Given the description of an element on the screen output the (x, y) to click on. 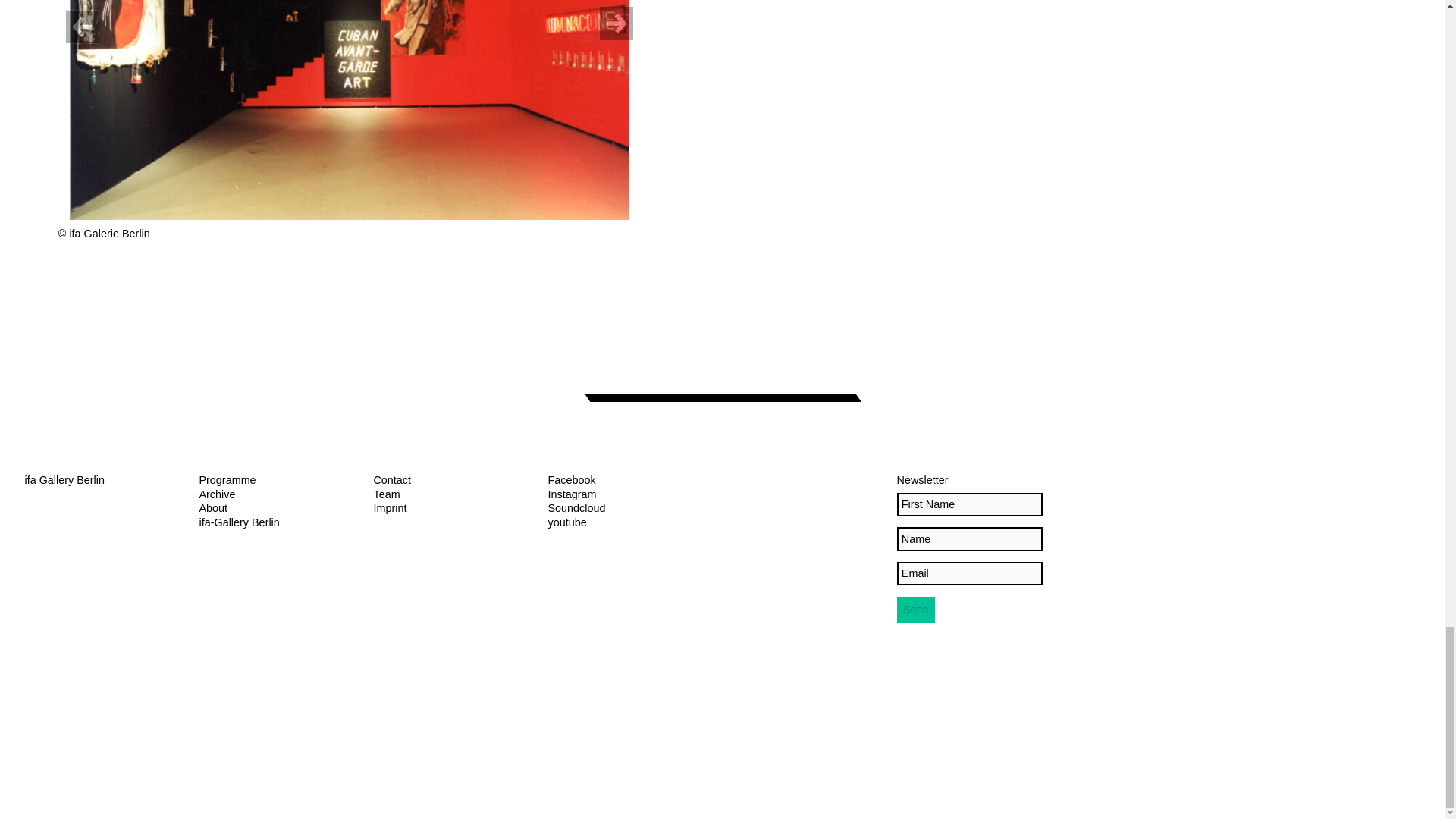
Soundcloud (576, 508)
Send (915, 610)
ifa Gallery Berlin (64, 480)
Archive (216, 494)
youtube (566, 522)
Instagram (571, 494)
Imprint (389, 508)
About (212, 508)
Team (385, 494)
Programme (227, 480)
back to the top (721, 787)
Facebook (571, 480)
ifa-Gallery Berlin (238, 522)
Contact (391, 480)
Send (915, 610)
